Given the description of an element on the screen output the (x, y) to click on. 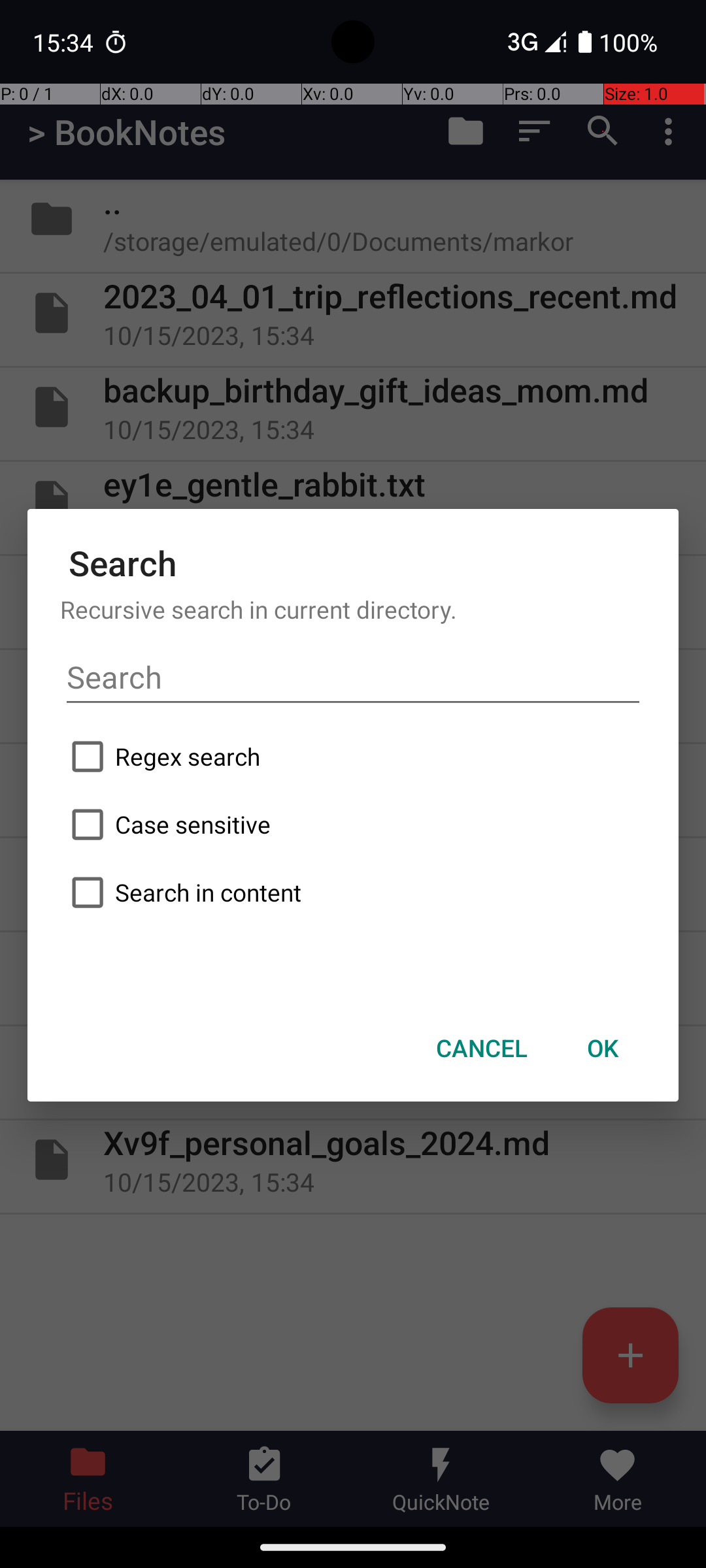
Recursive search in current directory. Element type: android.widget.TextView (352, 608)
Regex search Element type: android.widget.CheckBox (352, 756)
Case sensitive Element type: android.widget.CheckBox (352, 824)
Search in content Element type: android.widget.CheckBox (352, 892)
